Given the description of an element on the screen output the (x, y) to click on. 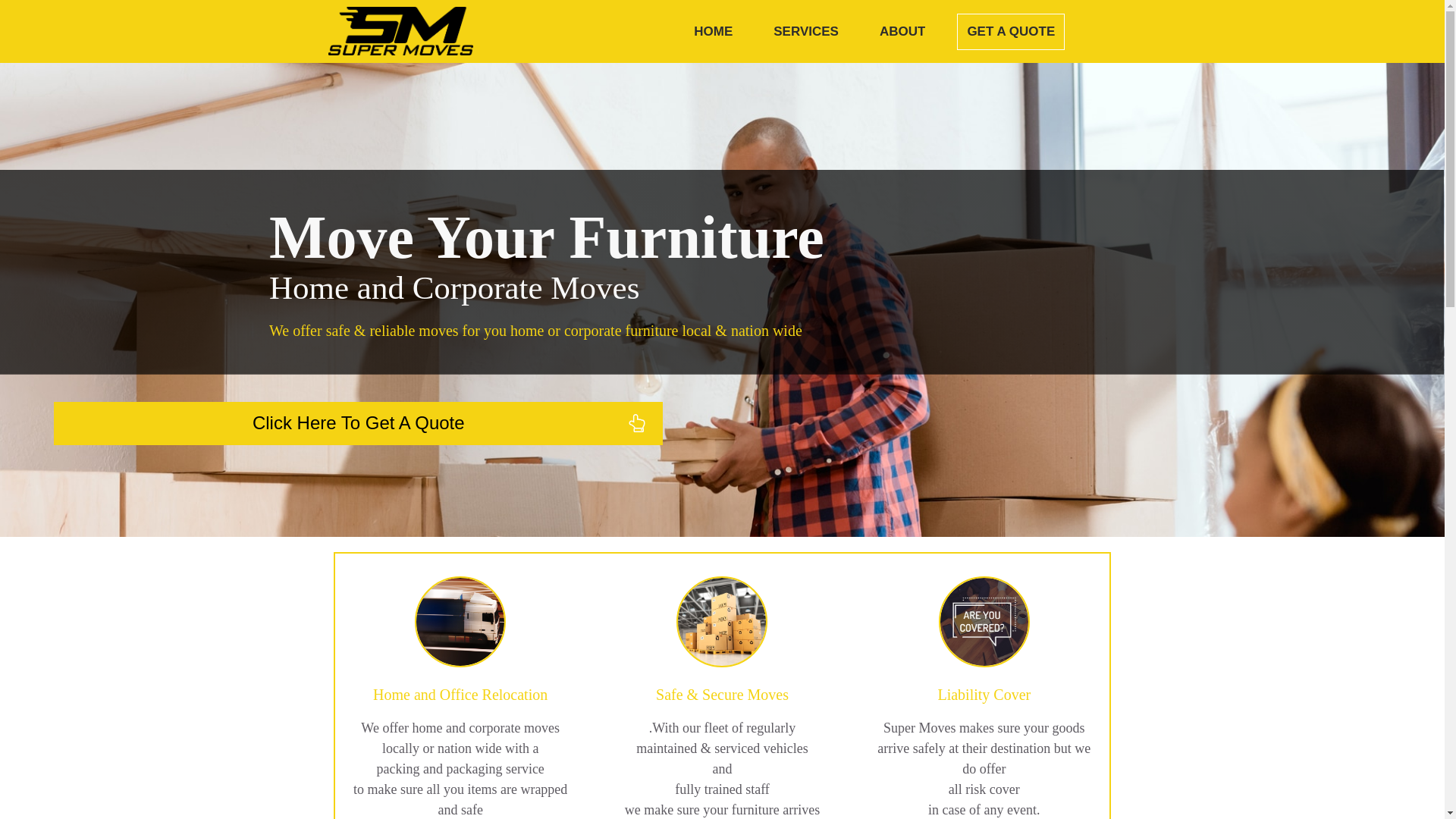
GET A QUOTE (1010, 31)
HOME (713, 31)
SERVICES (805, 31)
Untitled-1 (399, 30)
ABOUT (901, 31)
      Click Here To Get A Quote (357, 423)
